Given the description of an element on the screen output the (x, y) to click on. 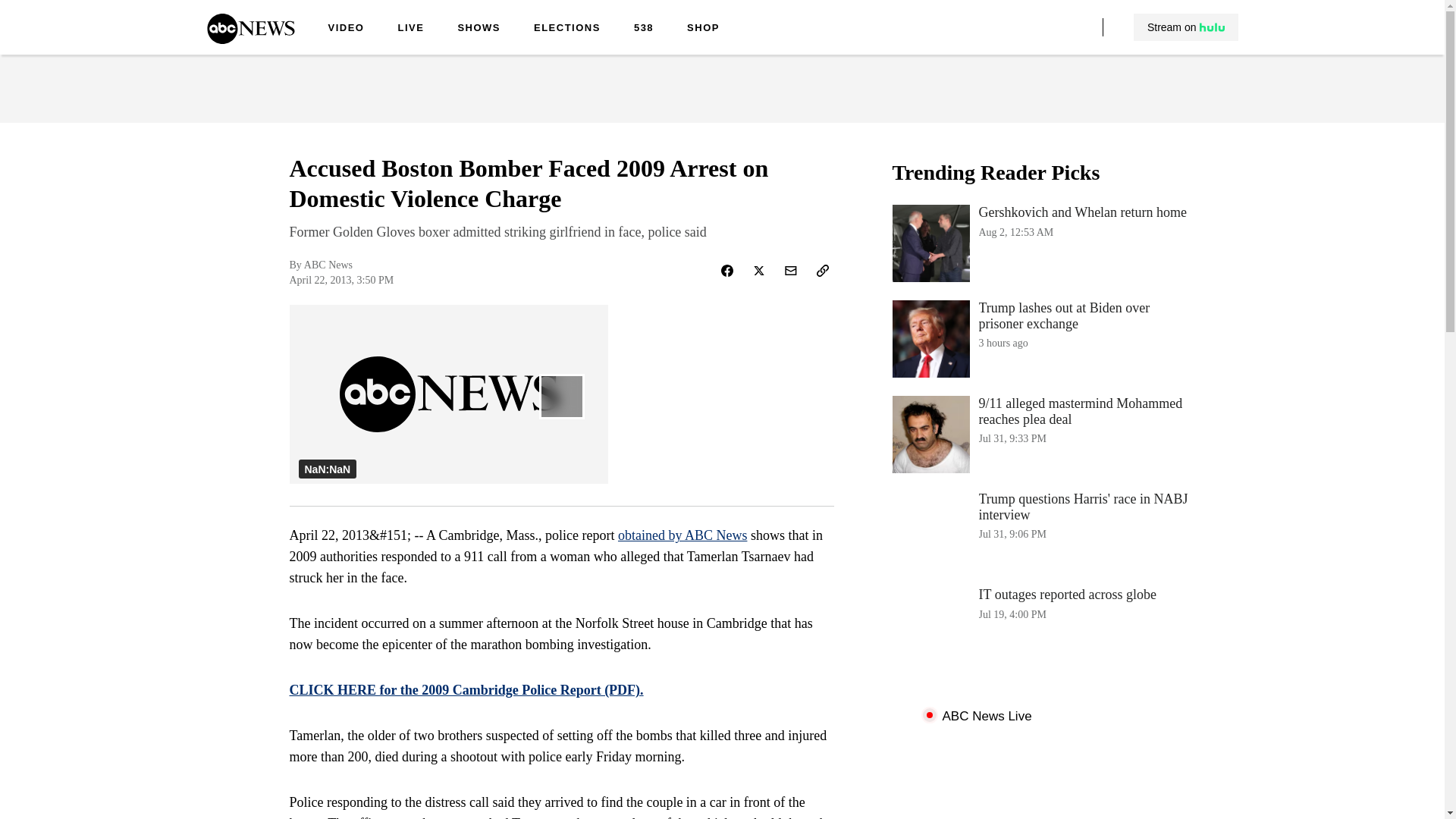
VIDEO (345, 28)
Stream on (1185, 27)
obtained by ABC News (682, 534)
ABC News (250, 38)
LIVE (410, 28)
Stream on (1043, 242)
ELECTIONS (1186, 26)
SHOWS (1043, 625)
SHOP (1043, 338)
538 (566, 28)
